Given the description of an element on the screen output the (x, y) to click on. 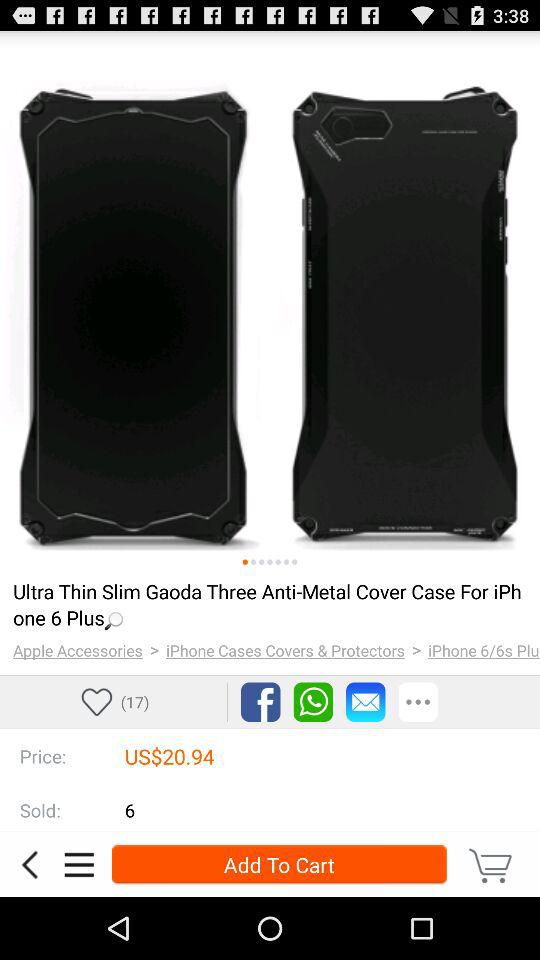
go back to shopping results (29, 864)
